Given the description of an element on the screen output the (x, y) to click on. 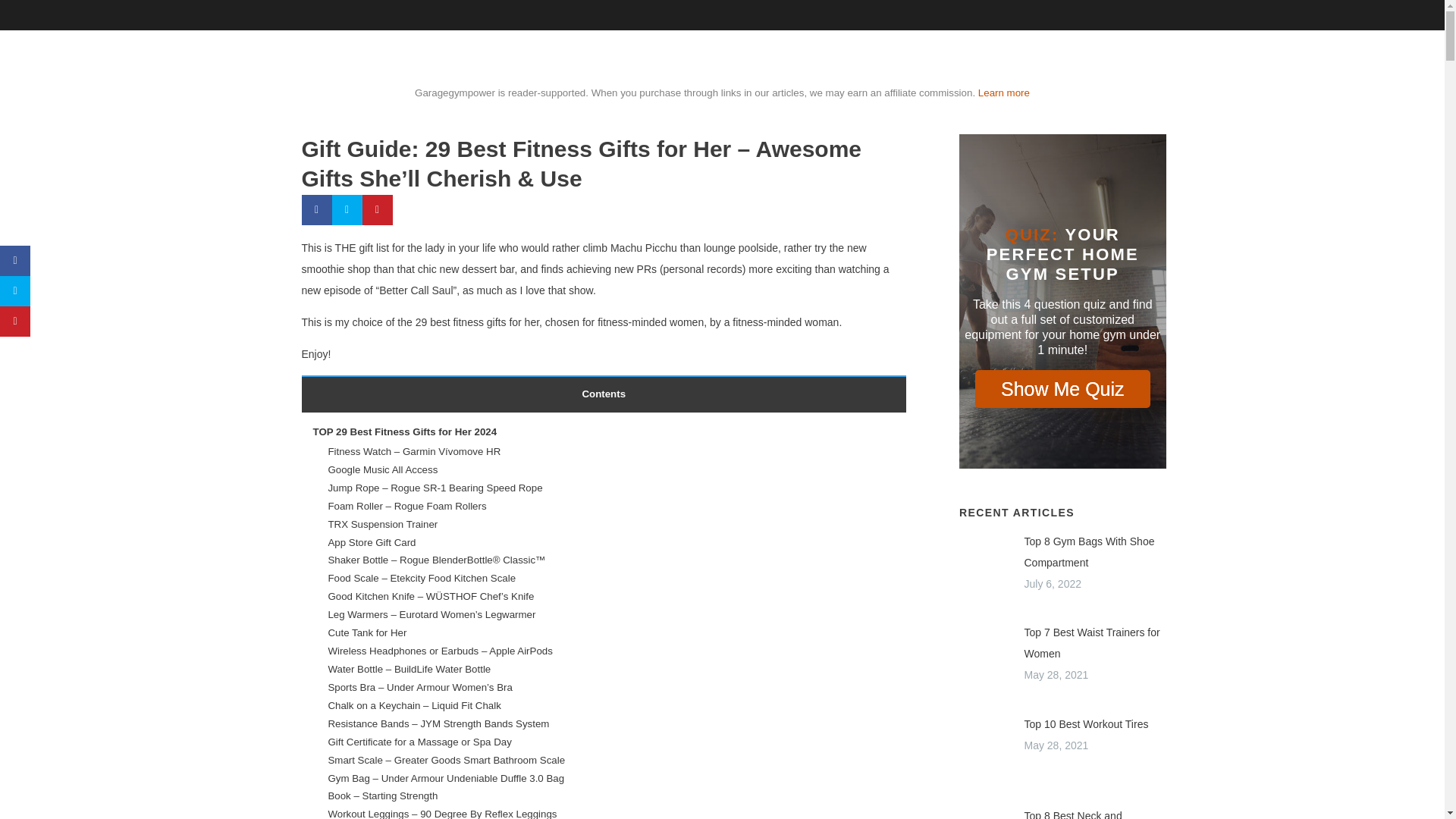
App Store Gift Card (370, 542)
TRX Suspension Trainer (382, 523)
Learn more (1003, 92)
TOP 29 Best Fitness Gifts for Her 2024 (404, 431)
Cute Tank for Her (366, 632)
Gift Certificate for a Massage or Spa Day (419, 741)
Google Music All Access (382, 469)
